Given the description of an element on the screen output the (x, y) to click on. 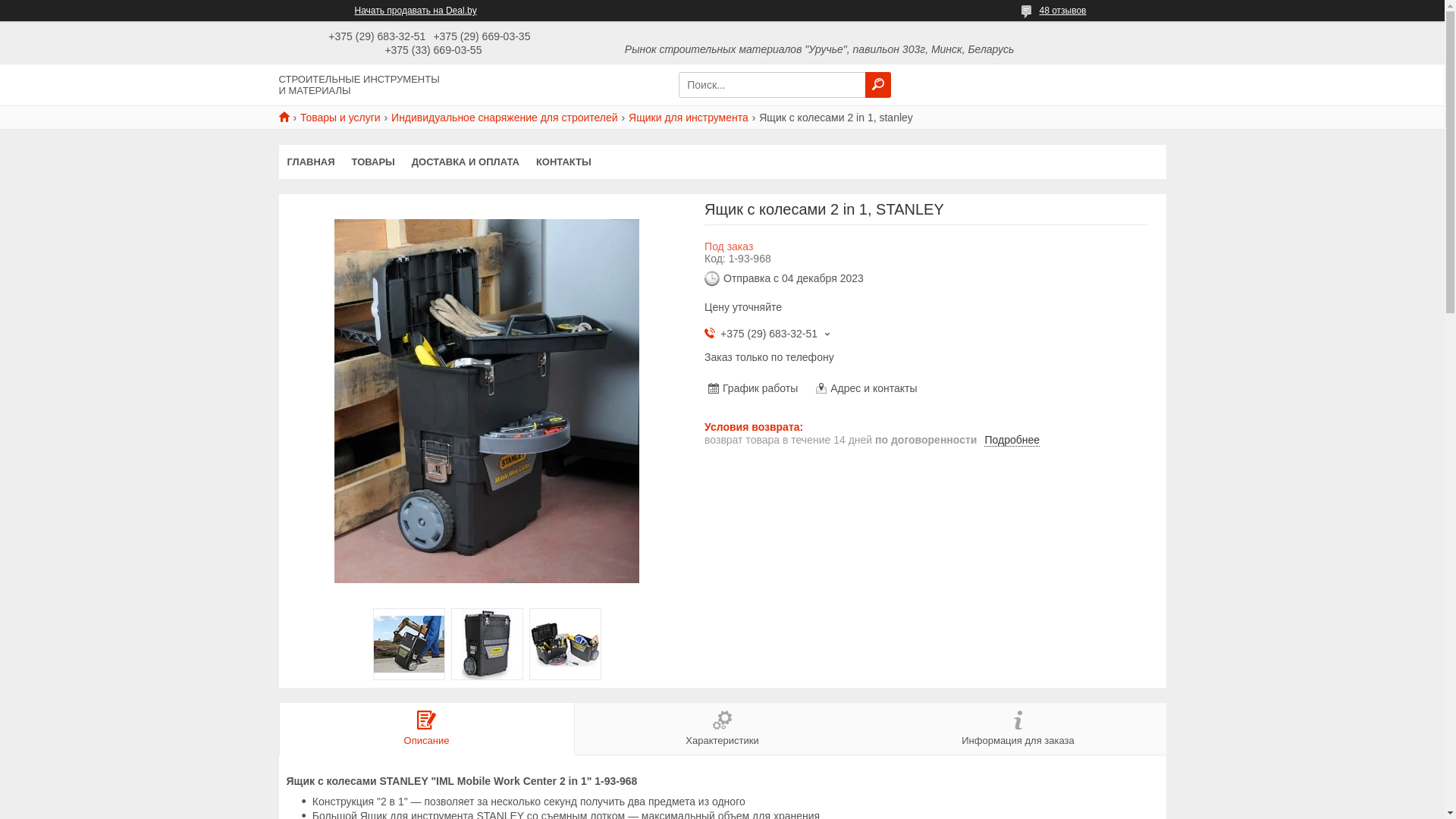
Stroimhatu.by Element type: hover (289, 116)
